Given the description of an element on the screen output the (x, y) to click on. 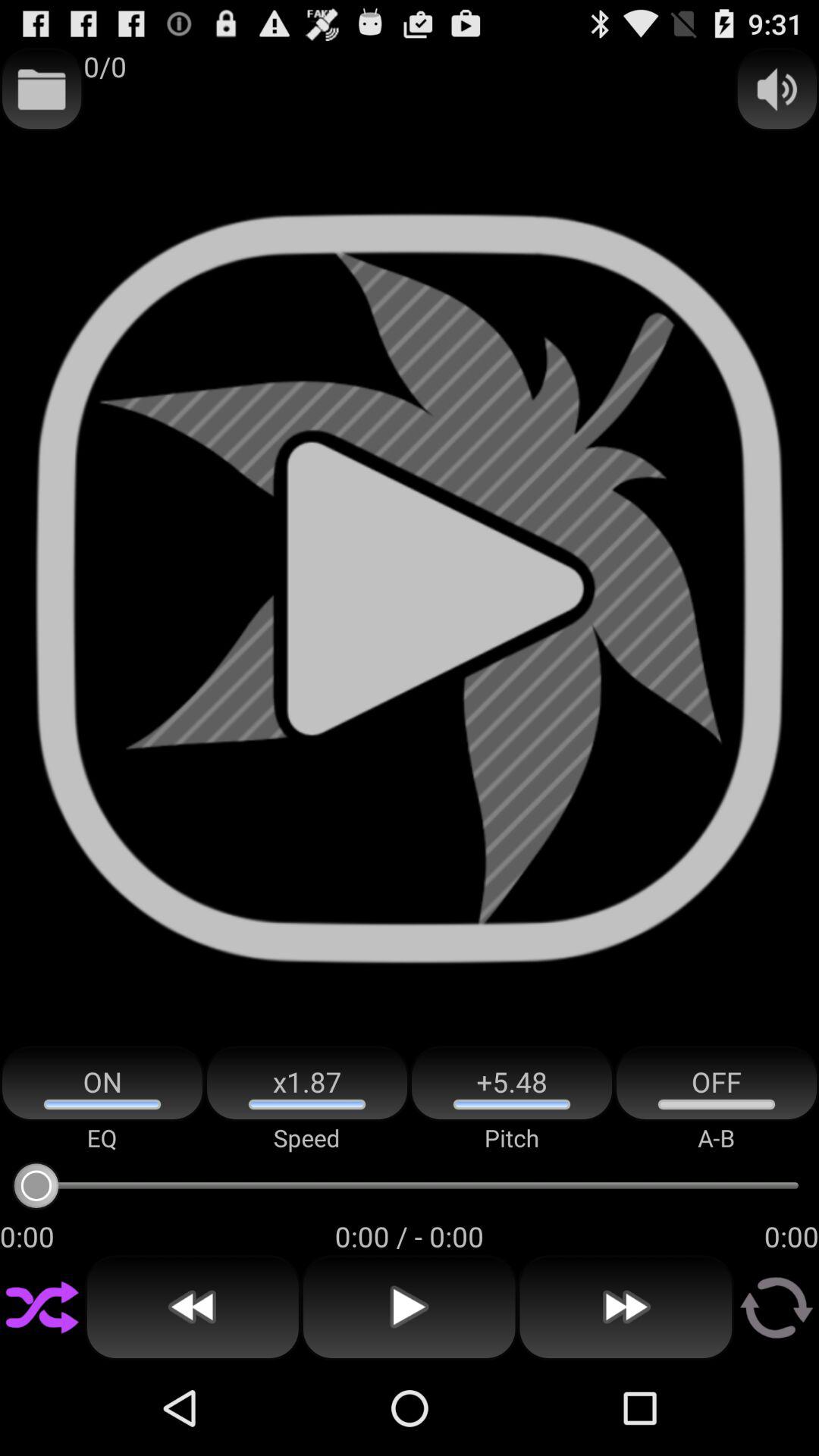
open the item below 0 00 0 icon (408, 1307)
